Given the description of an element on the screen output the (x, y) to click on. 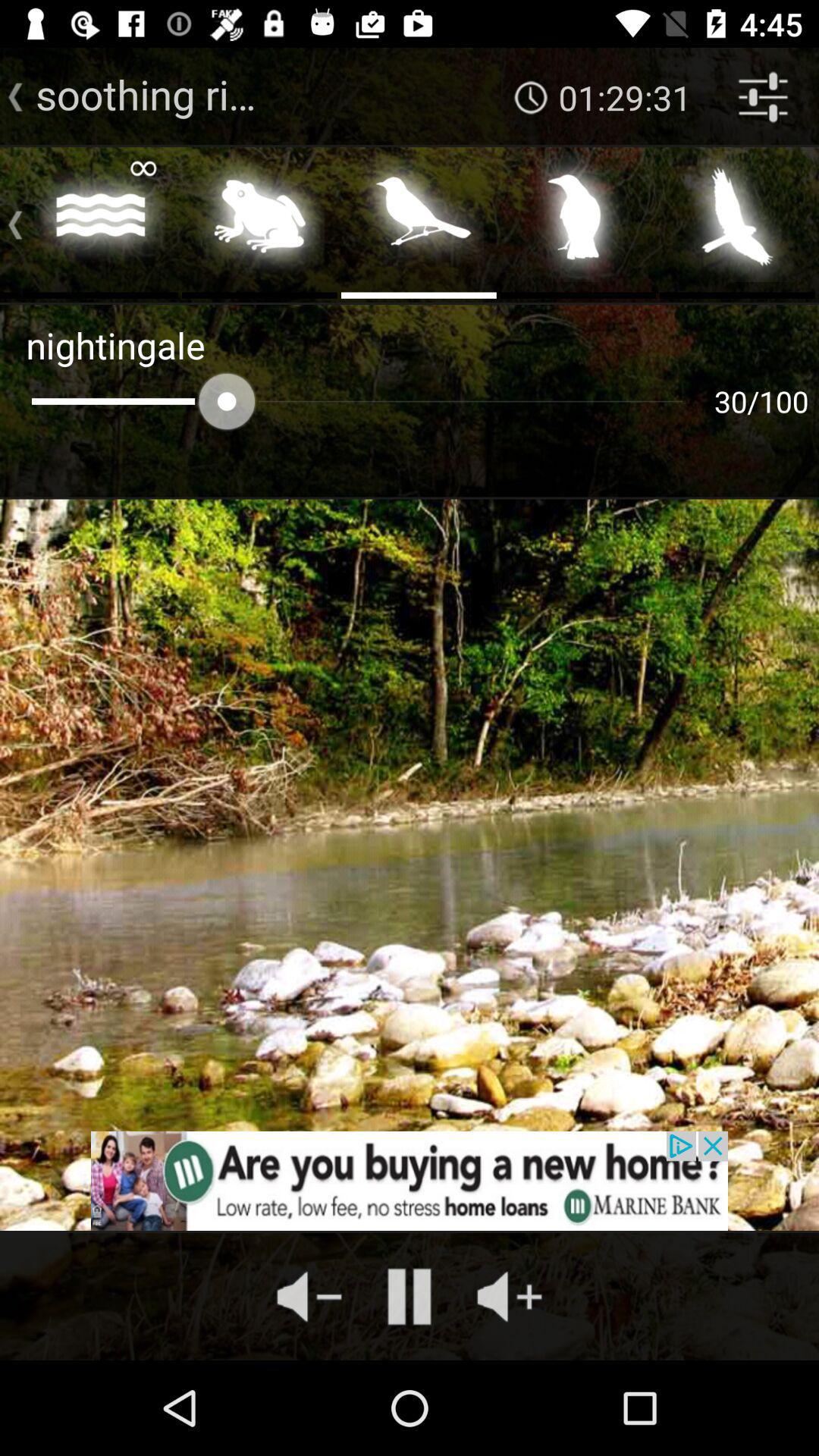
go back (9, 221)
